Given the description of an element on the screen output the (x, y) to click on. 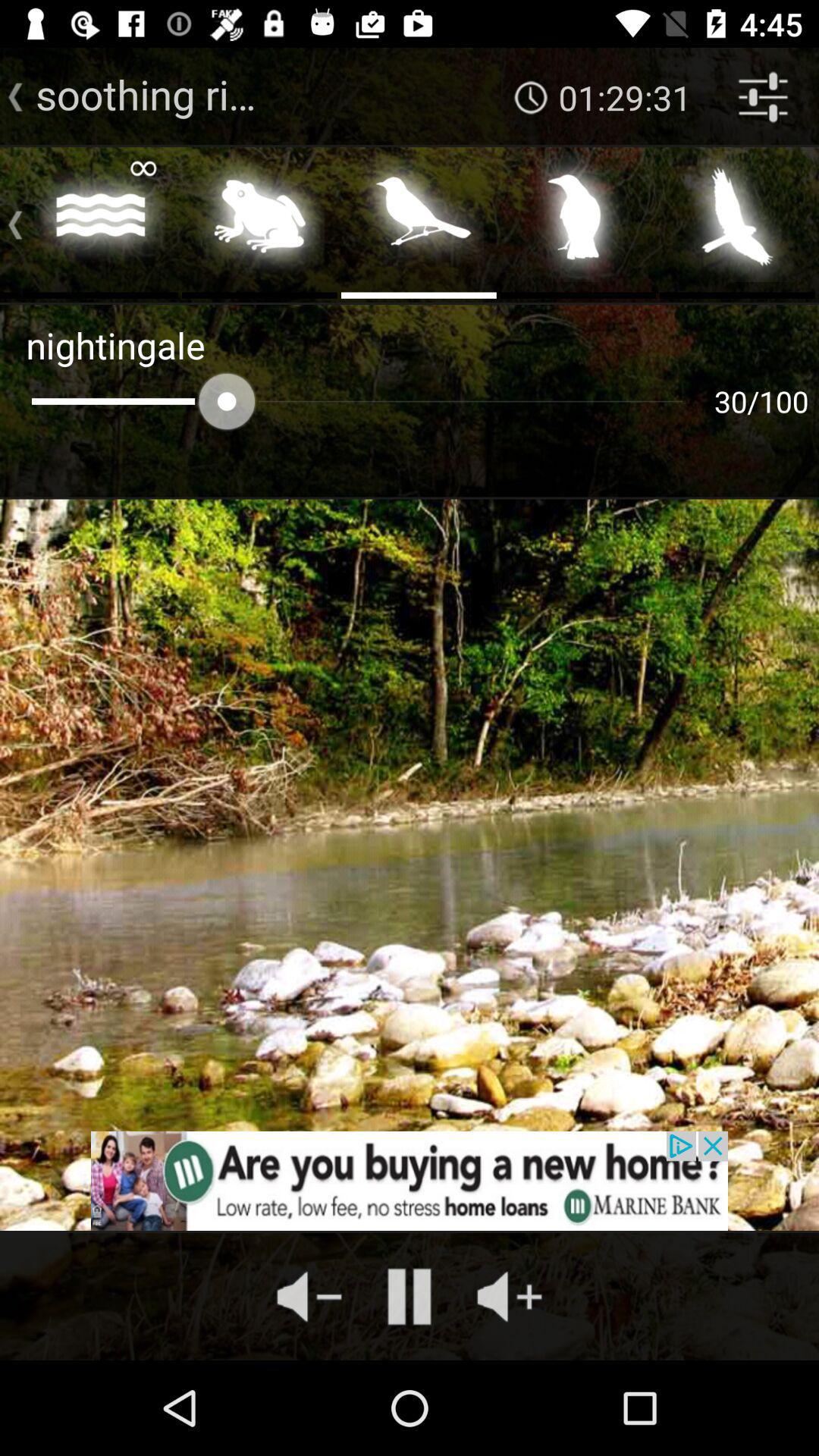
go back (9, 221)
